Given the description of an element on the screen output the (x, y) to click on. 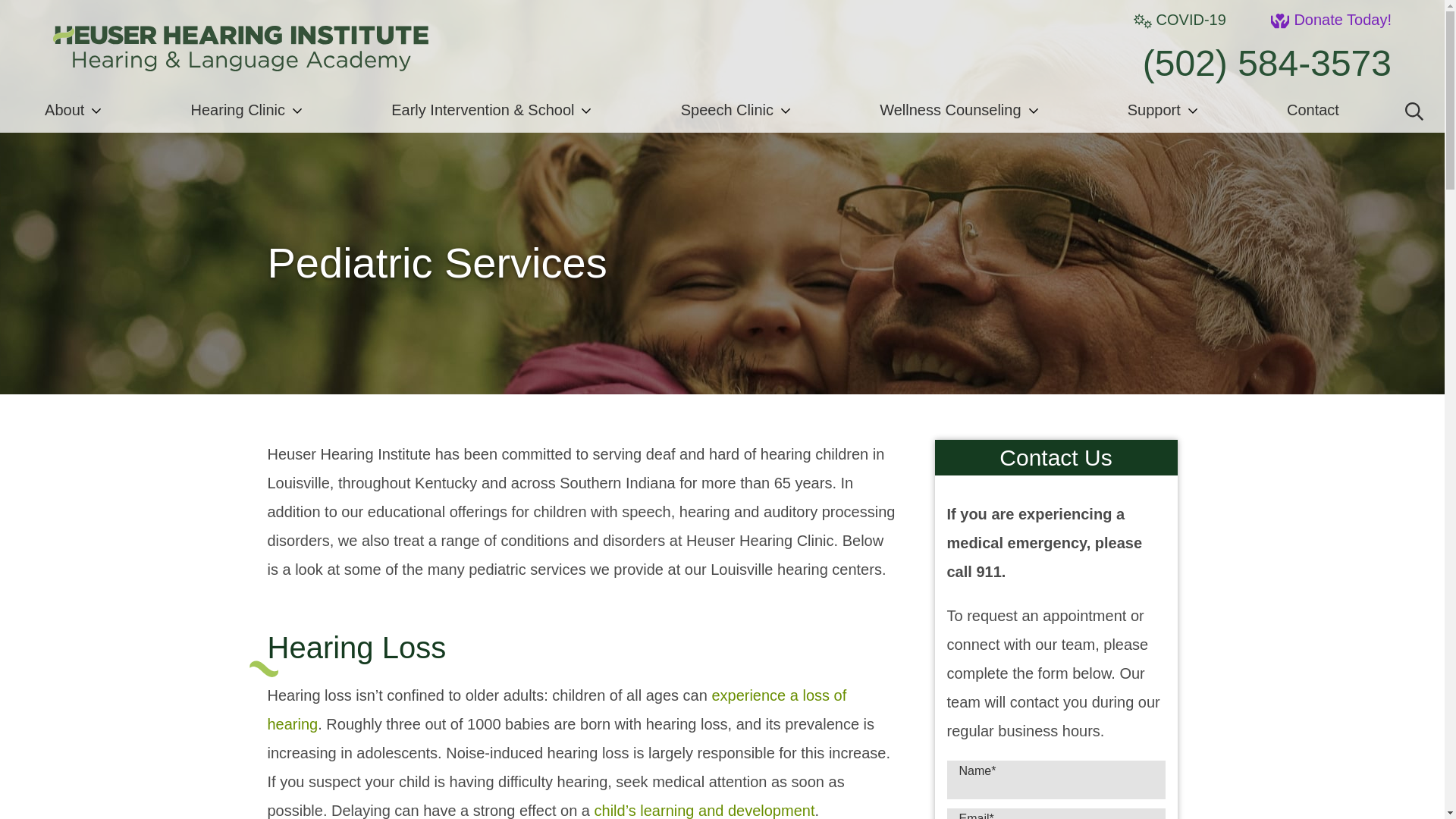
Donate Today! (1331, 19)
Hearing Clinic (245, 109)
COVID-19 (1179, 19)
About (72, 109)
